Given the description of an element on the screen output the (x, y) to click on. 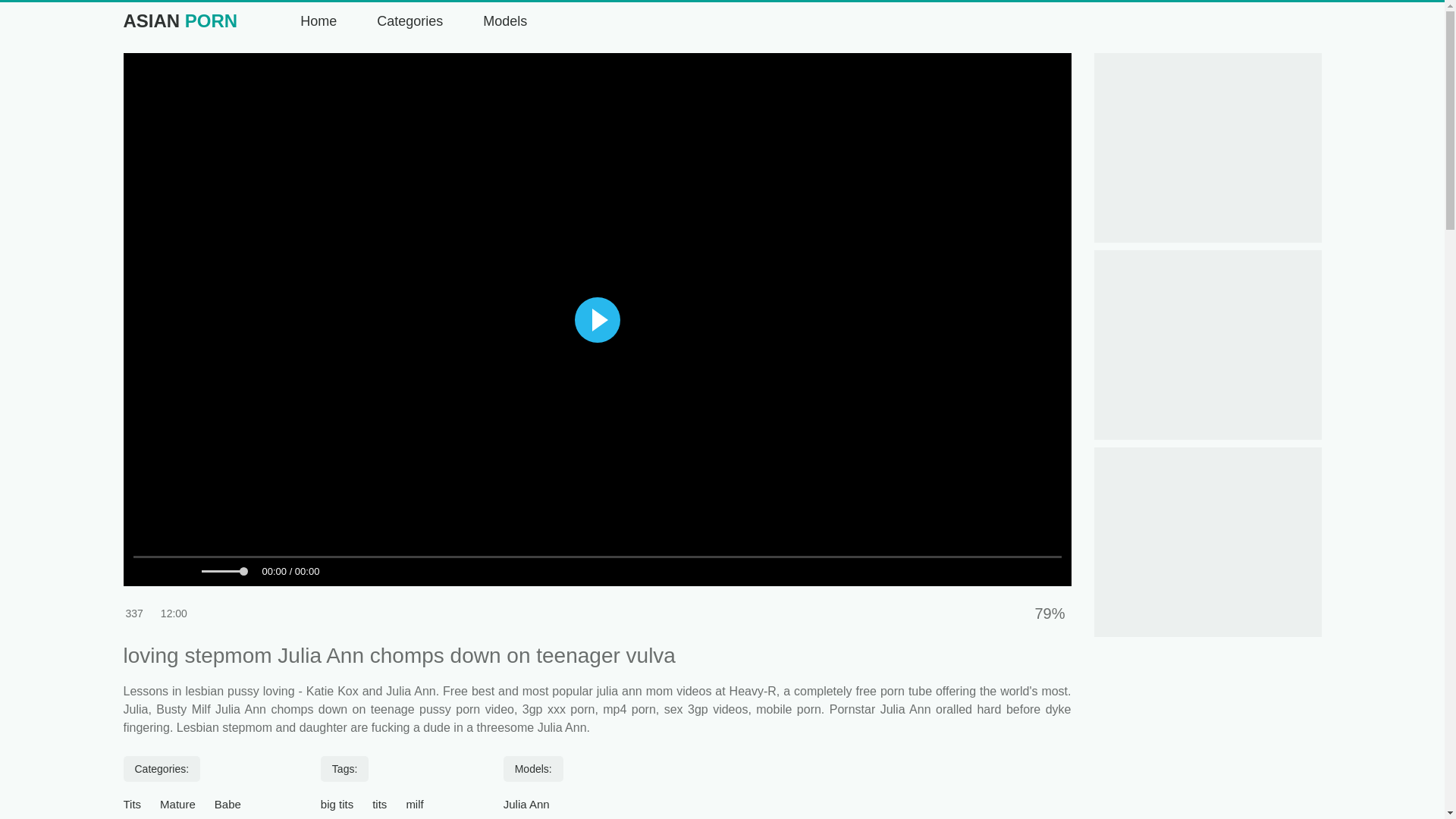
Models (503, 21)
Mature (177, 804)
ASIAN PORN (179, 21)
Julia Ann (526, 804)
Babe (227, 804)
Categories (408, 21)
Home (317, 21)
big tits (336, 804)
